Given the description of an element on the screen output the (x, y) to click on. 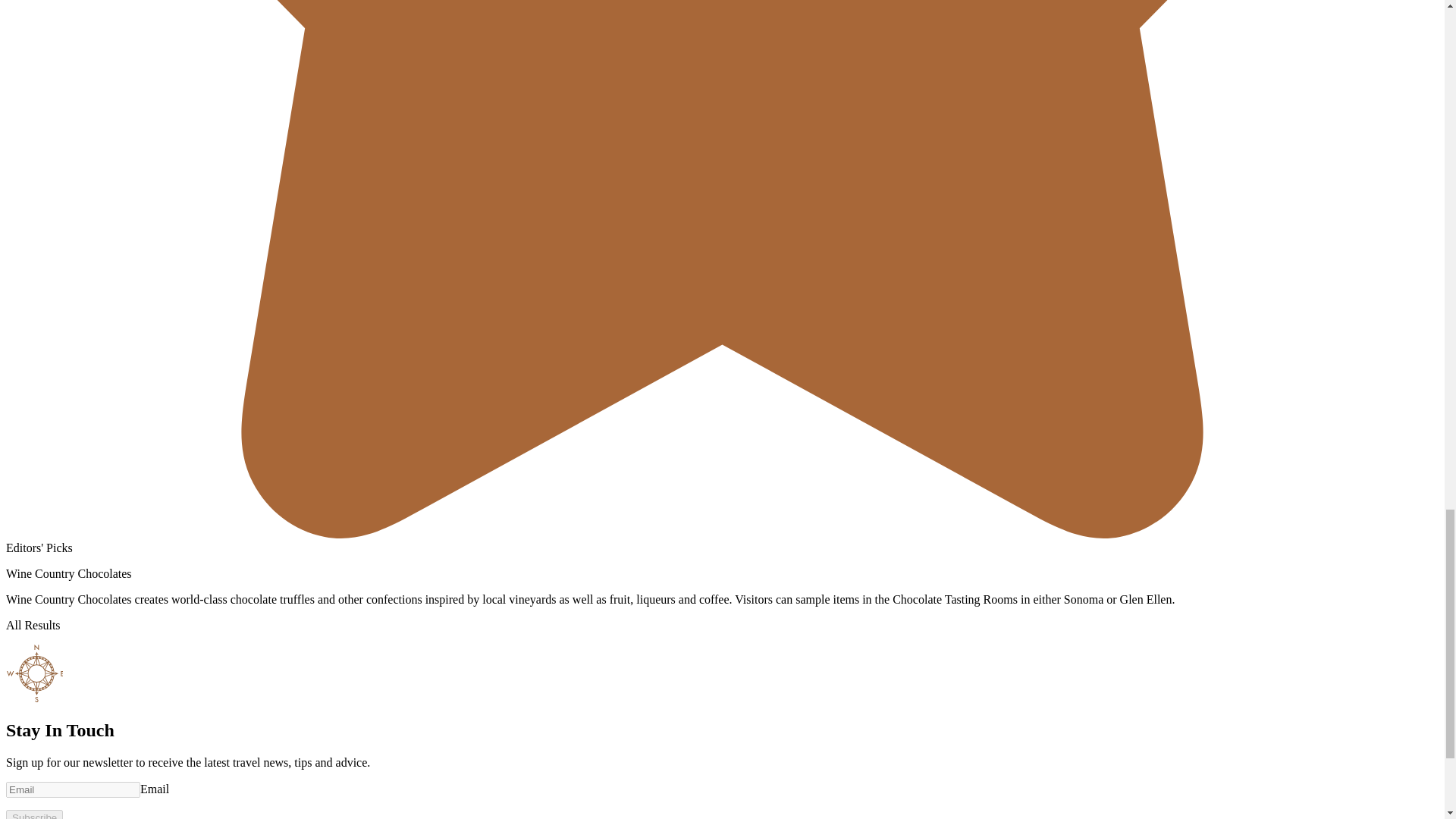
Subscribe (33, 814)
